Given the description of an element on the screen output the (x, y) to click on. 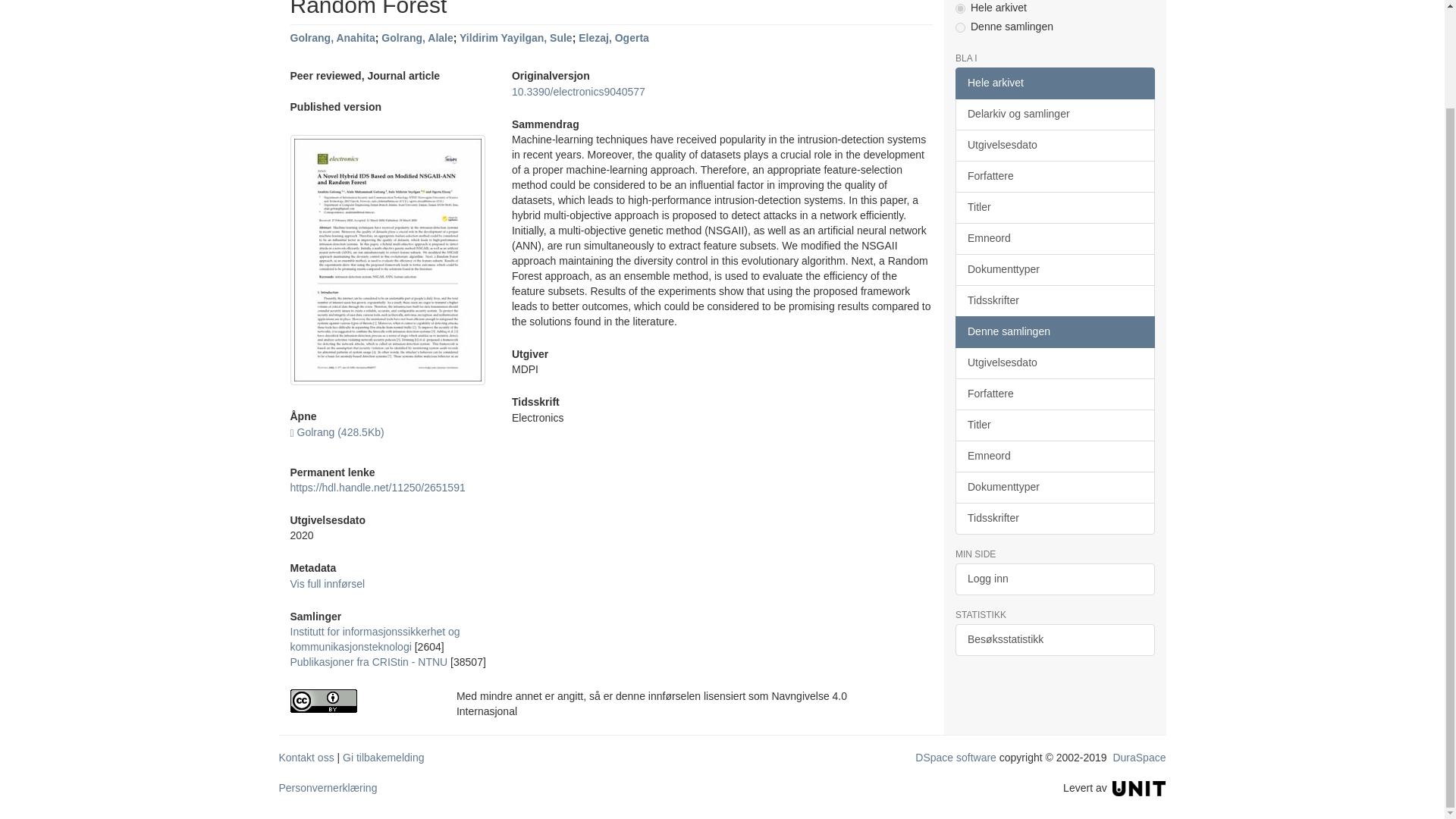
Unit (1139, 787)
Publikasjoner fra CRIStin - NTNU (367, 662)
Elezaj, Ogerta (613, 37)
Delarkiv og samlinger (1054, 114)
Yildirim Yayilgan, Sule (516, 37)
Navngivelse 4.0 Internasjonal (360, 700)
Golrang, Anahita (331, 37)
Golrang, Alale (416, 37)
Hele arkivet (1054, 83)
